Given the description of an element on the screen output the (x, y) to click on. 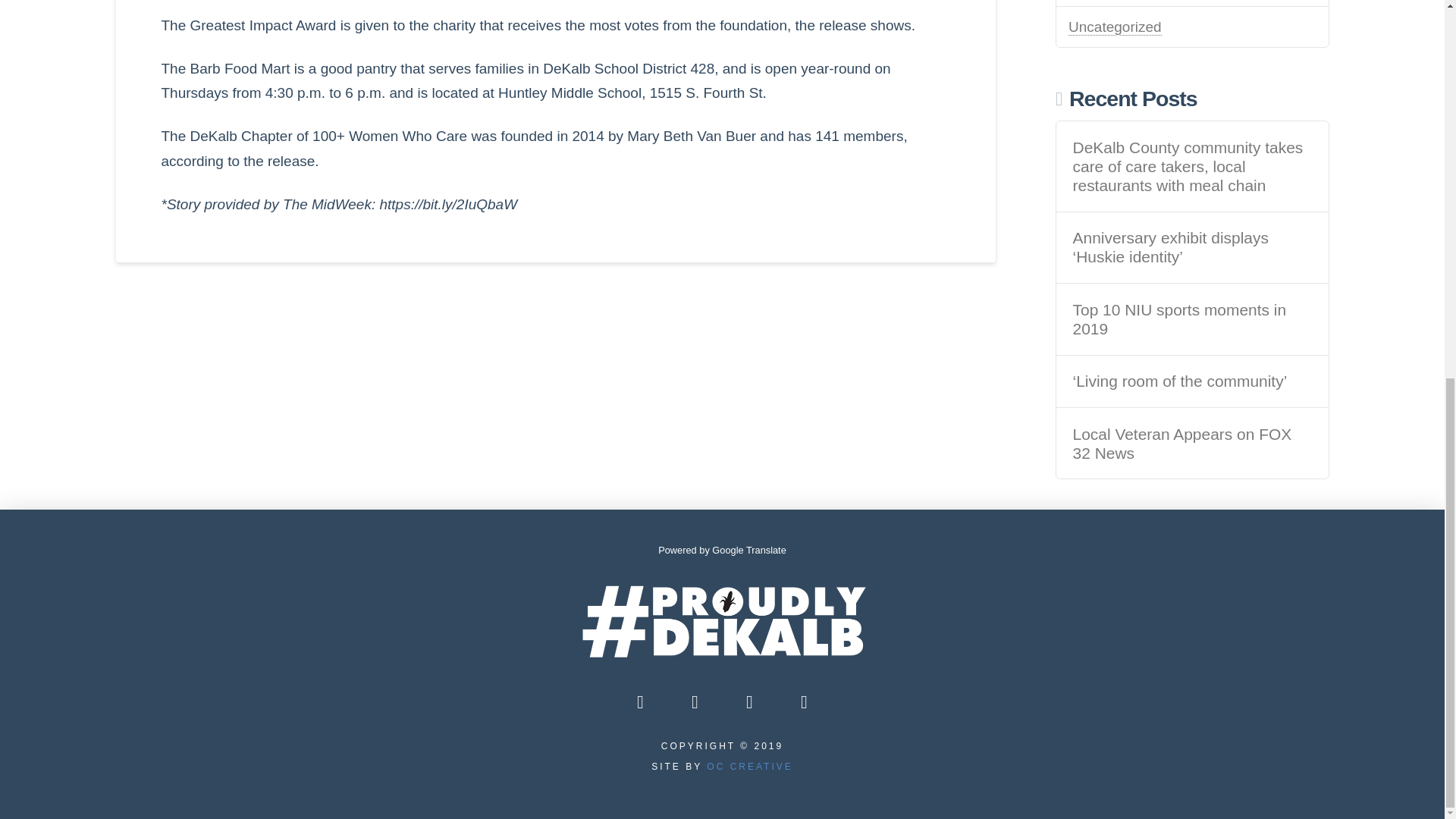
Local Veteran Appears on FOX 32 News (1192, 443)
Uncategorized (1114, 27)
Top 10 NIU sports moments in 2019 (1192, 319)
